Given the description of an element on the screen output the (x, y) to click on. 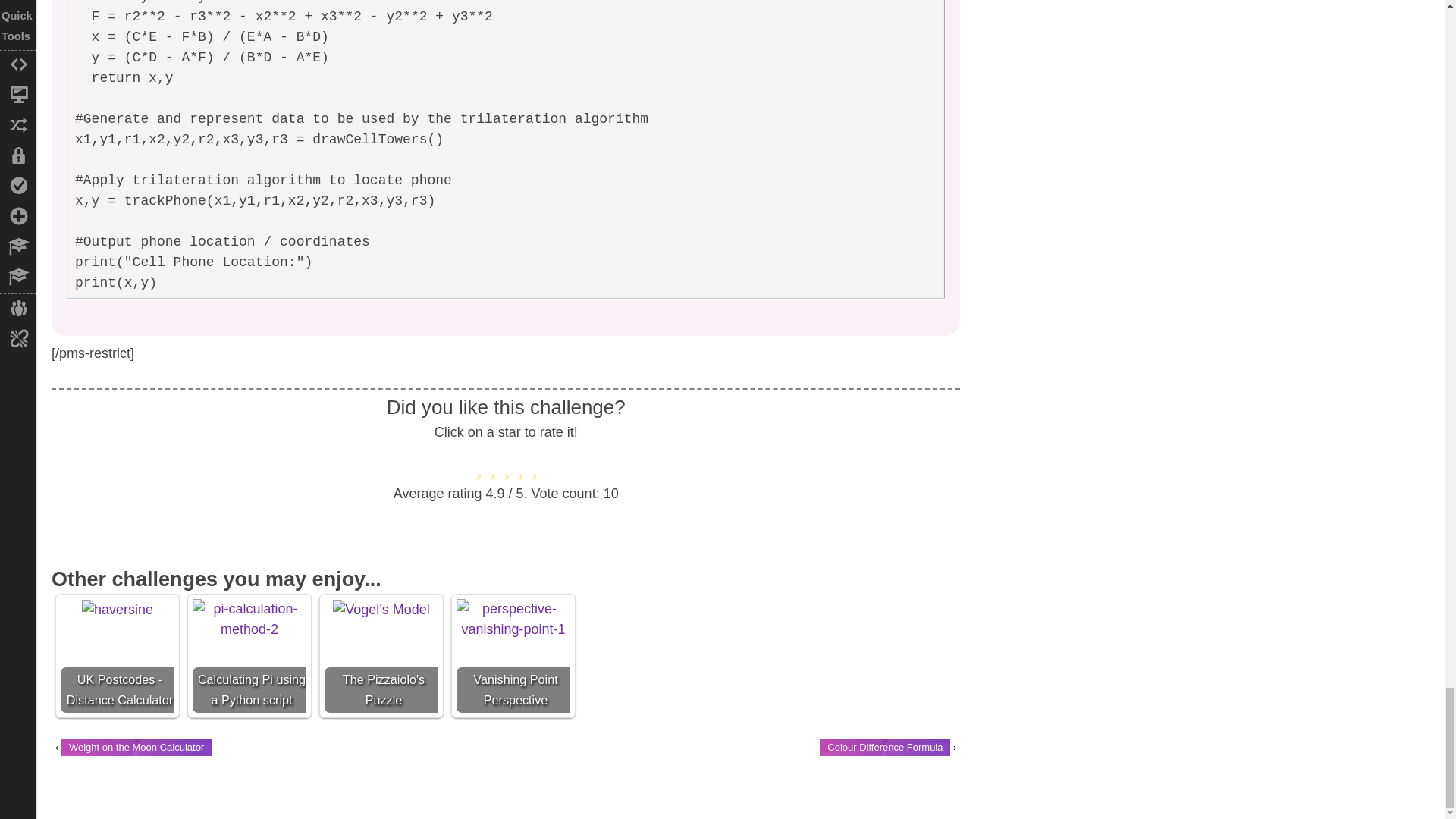
UK Postcodes - Distance Calculator (116, 609)
The Pizzaiolo's Puzzle (381, 609)
Vanishing Point Perspective (513, 618)
Calculating Pi using a Python script (248, 618)
